Given the description of an element on the screen output the (x, y) to click on. 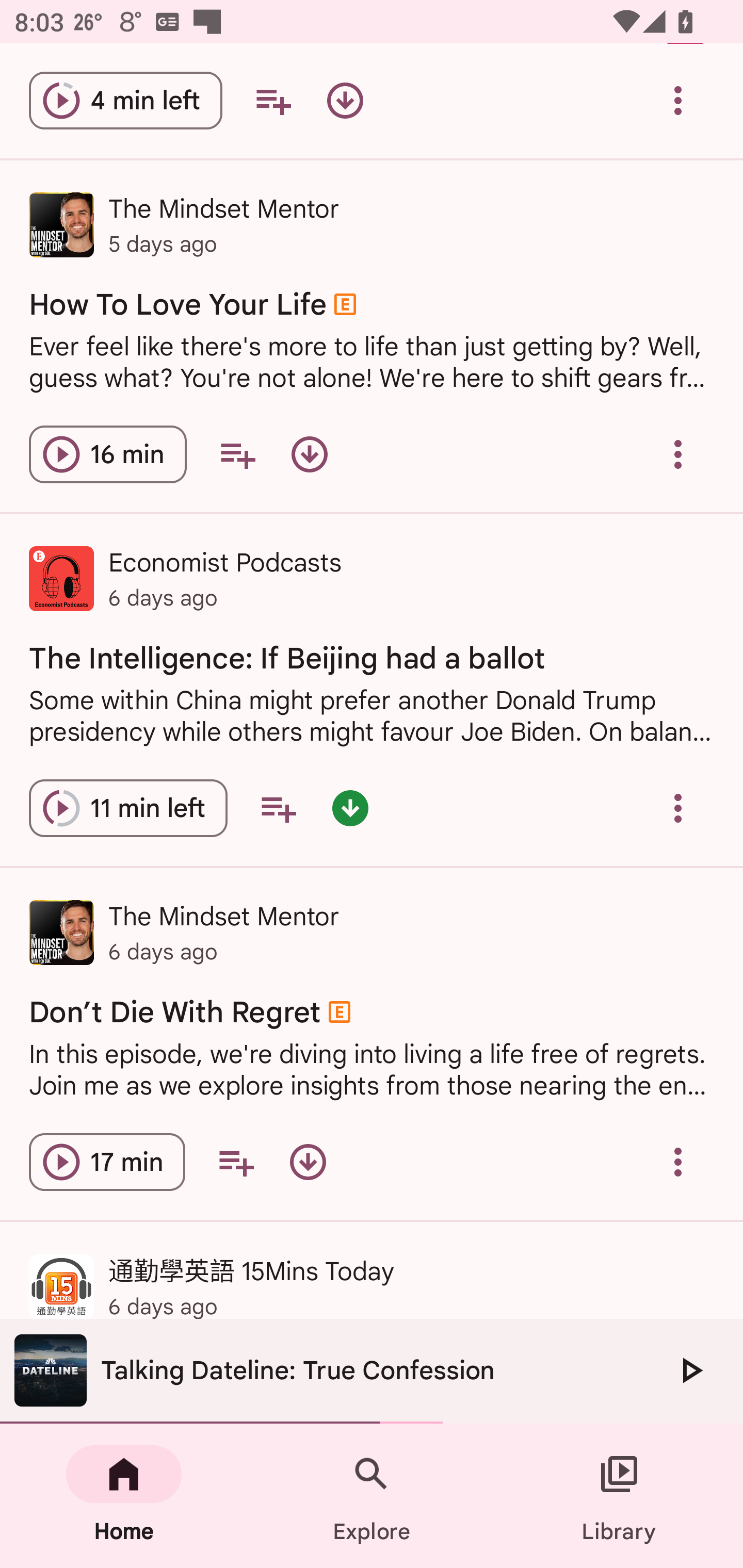
Add to your queue (273, 101)
Download episode (345, 101)
Overflow menu (677, 101)
Play episode How To Love Your Life 16 min (107, 453)
Add to your queue (237, 453)
Download episode (309, 453)
Overflow menu (677, 453)
Add to your queue (278, 808)
Episode downloaded - double tap for options (350, 808)
Overflow menu (677, 808)
Play episode Don’t Die With Regret 17 min (106, 1161)
Add to your queue (235, 1161)
Download episode (307, 1161)
Overflow menu (677, 1161)
Play (690, 1370)
Explore (371, 1495)
Library (619, 1495)
